Given the description of an element on the screen output the (x, y) to click on. 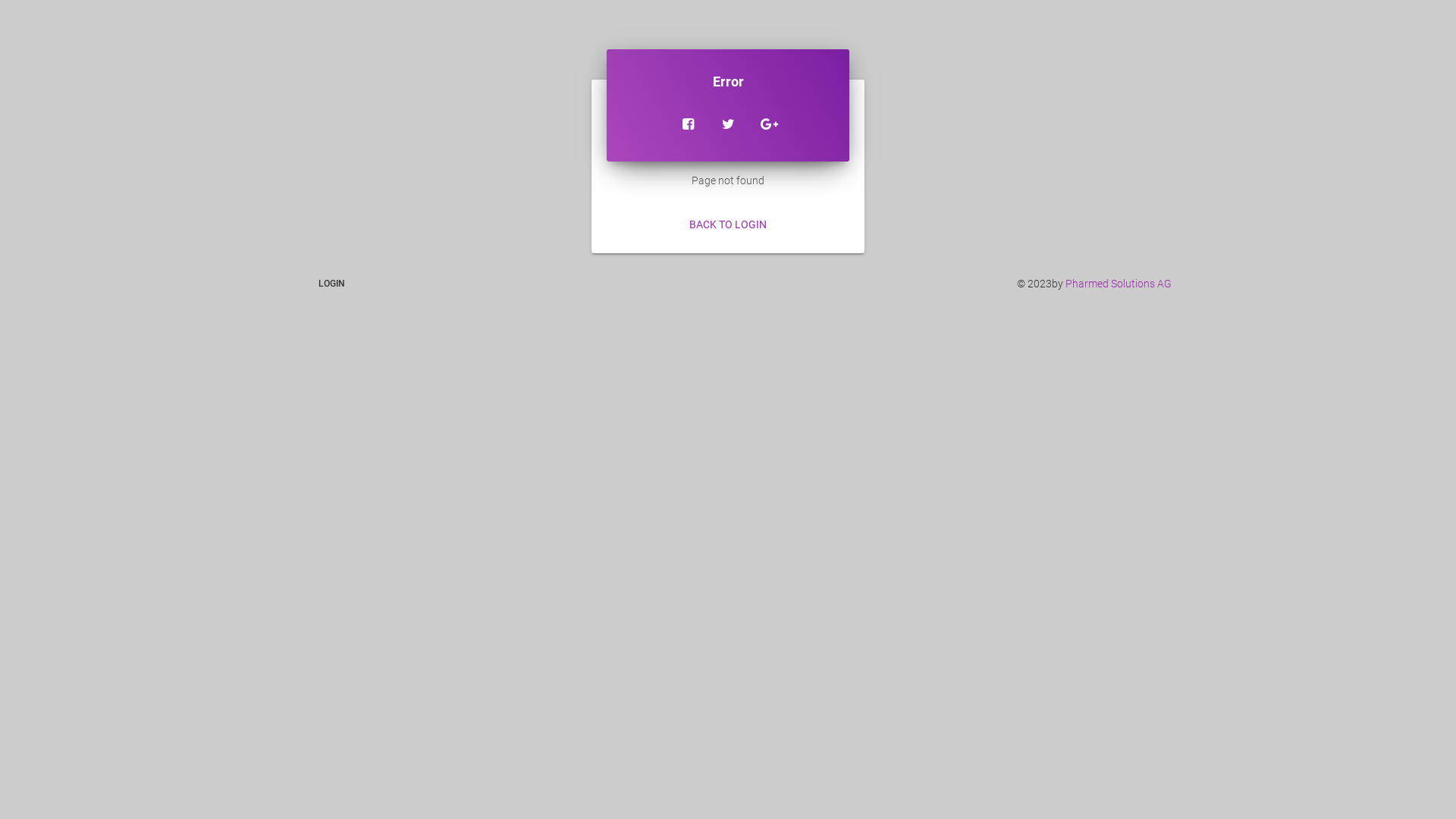
BACK TO LOGIN Element type: text (727, 224)
LOGIN Element type: text (331, 283)
Pharmed Solutions AG Element type: text (1118, 283)
